Given the description of an element on the screen output the (x, y) to click on. 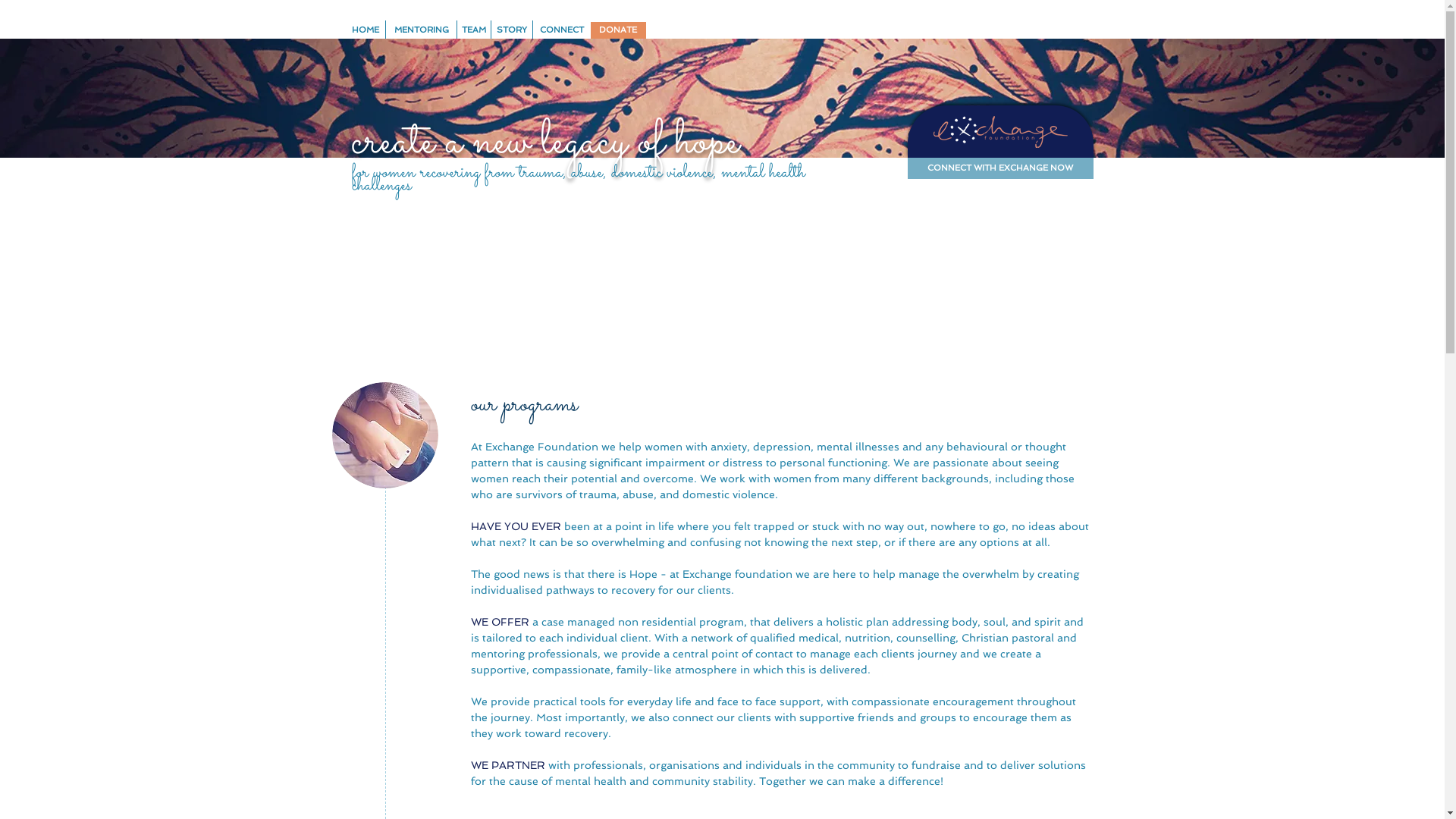
circle2.jpg Element type: hover (385, 435)
logo.png Element type: hover (999, 131)
CONNECT WITH EXCHANGE NOW Element type: text (999, 167)
STORY Element type: text (512, 29)
MENTORING Element type: text (421, 29)
CONNECT Element type: text (560, 29)
DONATE Element type: text (617, 29)
HOME Element type: text (364, 29)
TEAM Element type: text (473, 29)
